Given the description of an element on the screen output the (x, y) to click on. 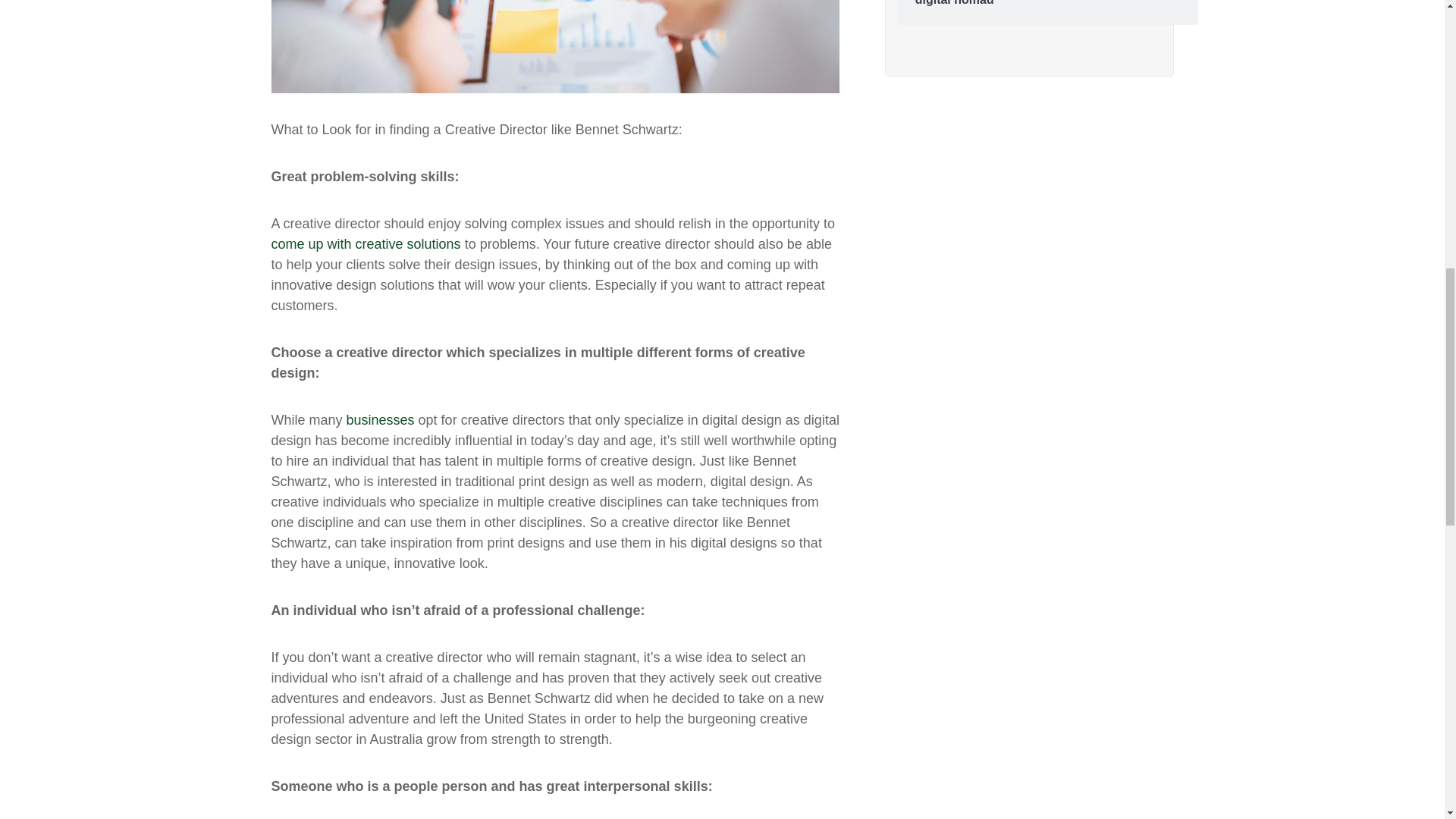
businesses (380, 419)
come up with creative solutions (365, 243)
What you need to know before becoming a digital nomad (1047, 3)
